Given the description of an element on the screen output the (x, y) to click on. 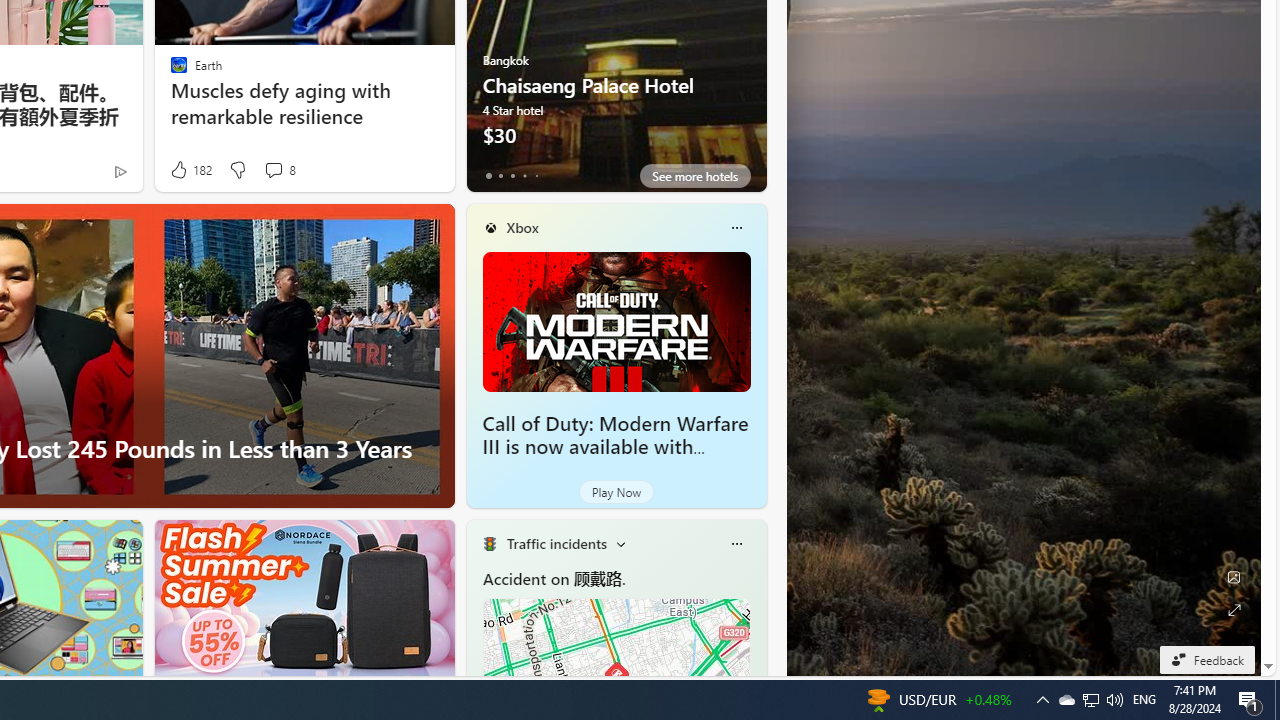
View comments 8 Comment (279, 170)
tab-4 (535, 175)
Traffic Title Traffic Light (489, 543)
tab-0 (488, 175)
Dislike (237, 170)
tab-2 (511, 175)
More options (736, 543)
Play Now (616, 491)
182 Like (190, 170)
Xbox (521, 227)
Feedback (1206, 659)
Class: icon-img (736, 543)
